Given the description of an element on the screen output the (x, y) to click on. 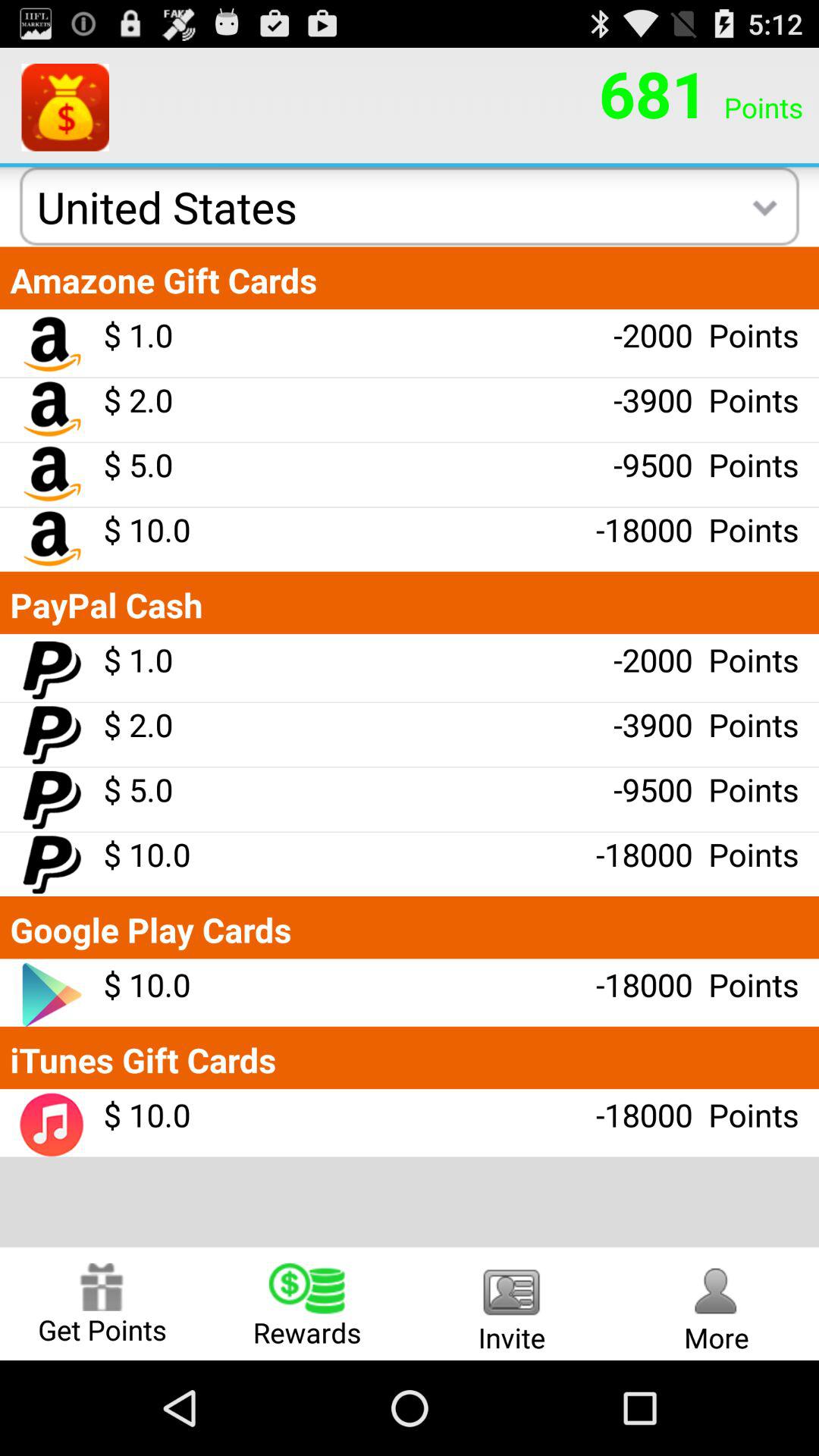
jump to get points item (102, 1303)
